Given the description of an element on the screen output the (x, y) to click on. 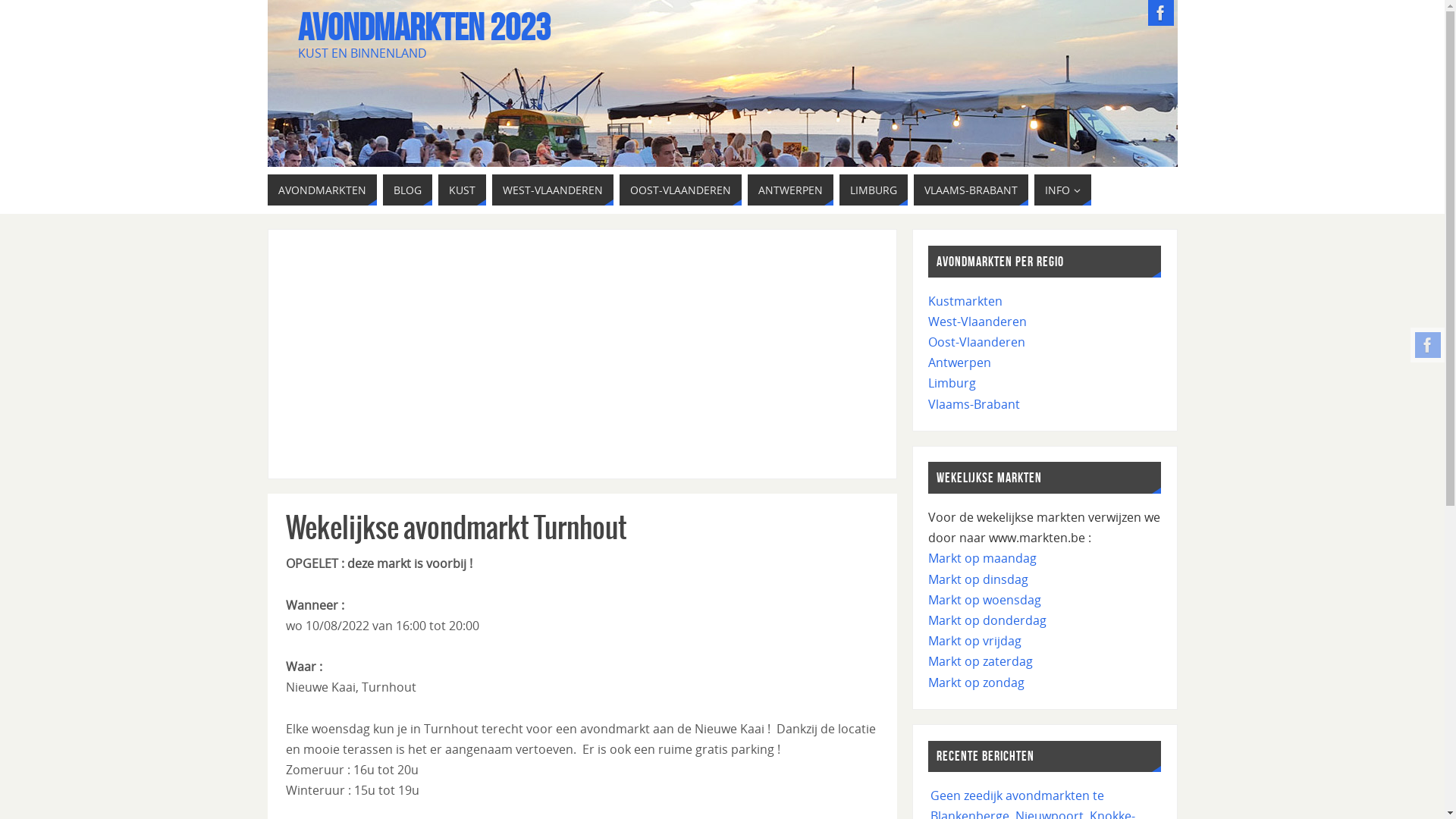
Antwerpen Element type: text (959, 362)
Advertisement Element type: hover (582, 353)
Alle Avondmarkten Facebook Element type: hover (1427, 344)
KUST Element type: text (462, 189)
WEST-VLAANDEREN Element type: text (551, 189)
Markt op woensdag Element type: text (984, 599)
AVONDMARKTEN Element type: text (321, 189)
ANTWERPEN Element type: text (790, 189)
BLOG Element type: text (406, 189)
Kustmarkten Element type: text (965, 300)
Markt op zondag Element type: text (976, 682)
Markt op donderdag Element type: text (987, 619)
West-Vlaanderen Element type: text (977, 321)
Markt op maandag Element type: text (982, 557)
Oost-Vlaanderen Element type: text (976, 341)
Alle Avondmarkten Facebook Element type: hover (1160, 12)
VLAAMS-BRABANT Element type: text (970, 189)
LIMBURG Element type: text (872, 189)
AVONDMARKTEN 2023 Element type: text (423, 27)
Markt op dinsdag Element type: text (978, 579)
Limburg Element type: text (951, 382)
Vlaams-Brabant Element type: text (973, 403)
Markt op vrijdag Element type: text (974, 640)
INFO Element type: text (1062, 189)
OOST-VLAANDEREN Element type: text (679, 189)
Markt op zaterdag Element type: text (980, 660)
